Given the description of an element on the screen output the (x, y) to click on. 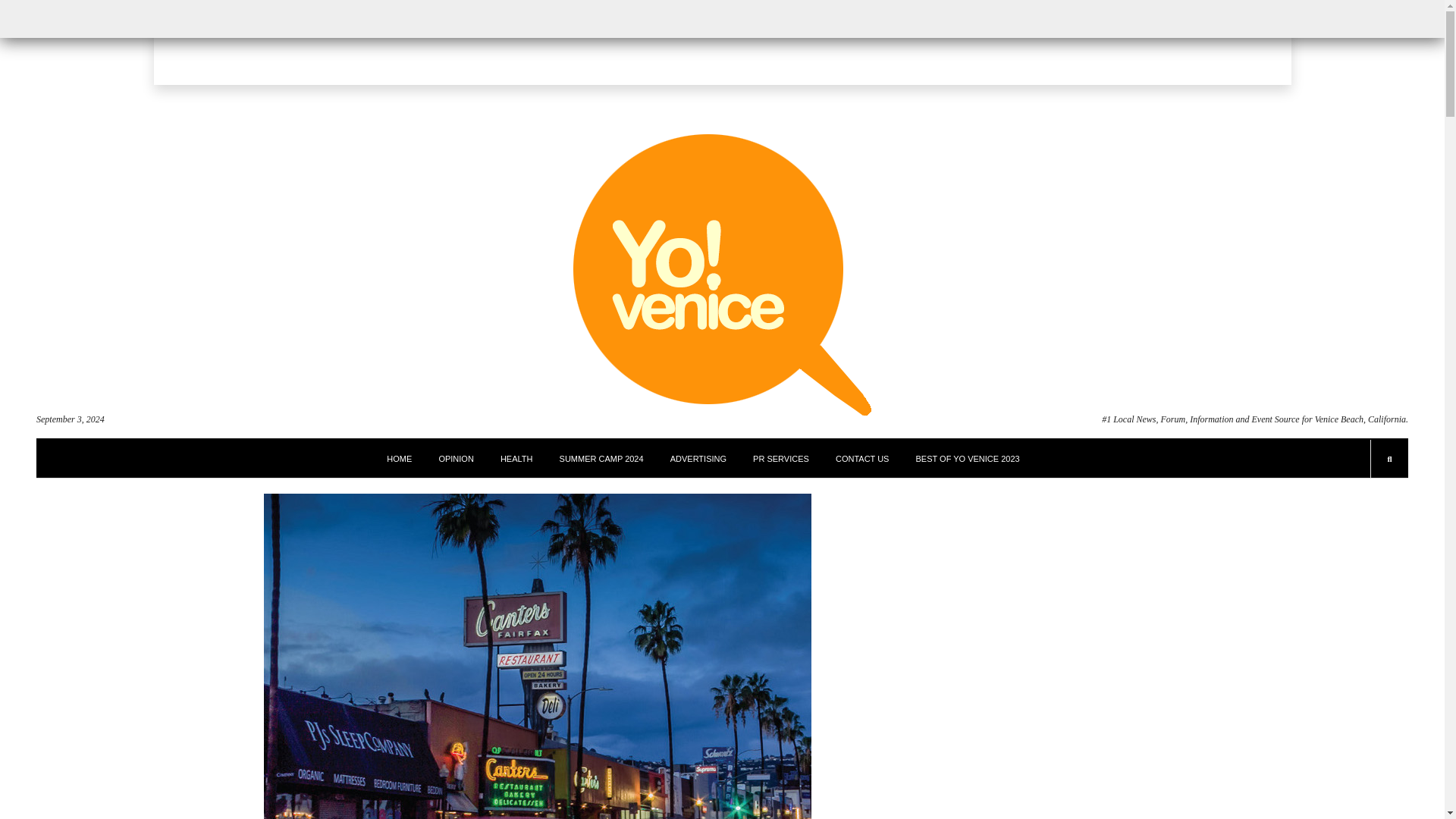
SUMMER CAMP 2024 (601, 458)
BEST OF YO VENICE 2023 (967, 458)
CONTACT US (862, 458)
OPINION (455, 458)
PR SERVICES (780, 458)
ADVERTISING (697, 458)
